Given the description of an element on the screen output the (x, y) to click on. 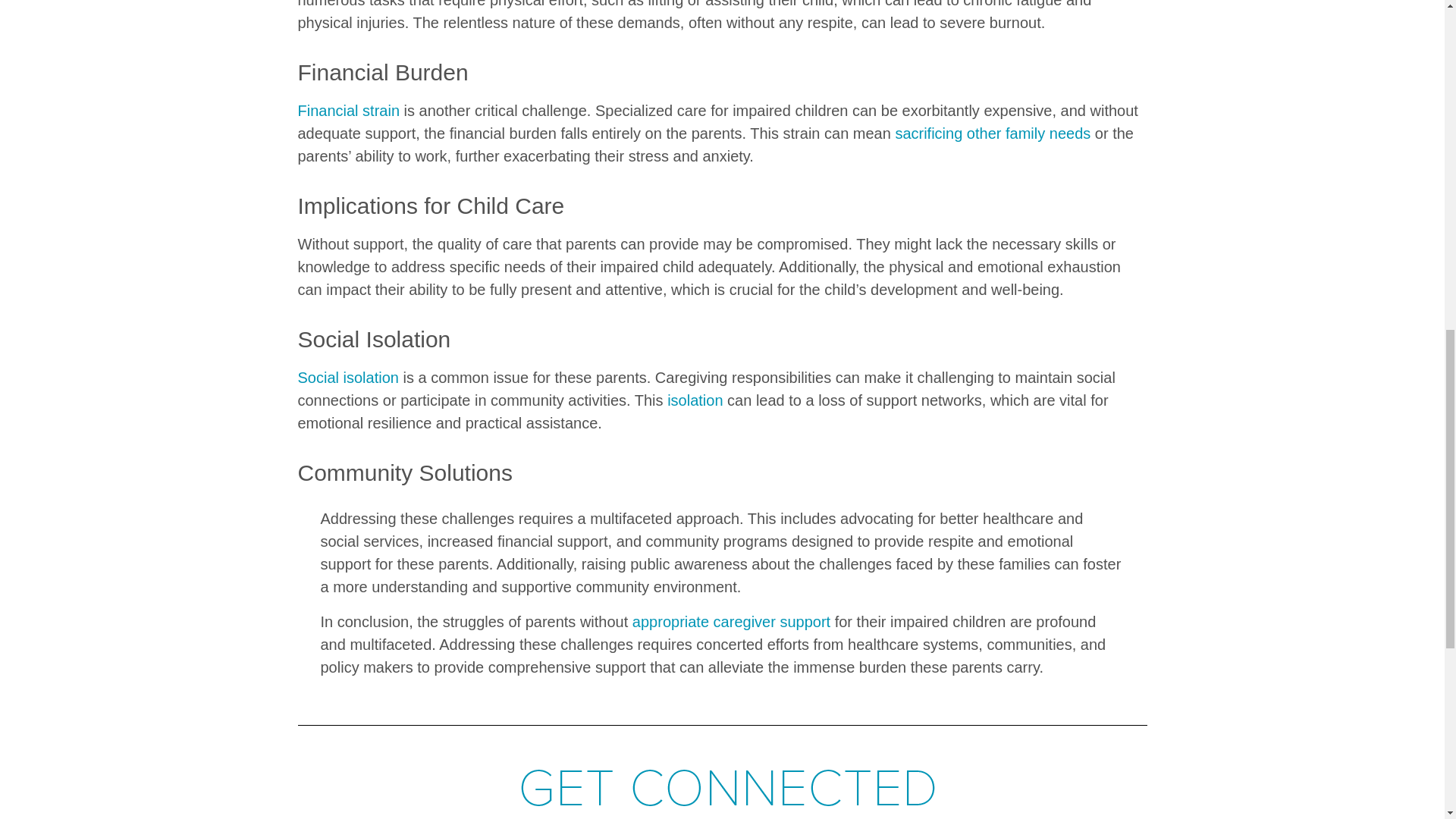
sacrificing other family needs (992, 133)
Social isolation (347, 377)
appropriate caregiver support (730, 621)
isolation (694, 400)
Financial strain (347, 110)
